Given the description of an element on the screen output the (x, y) to click on. 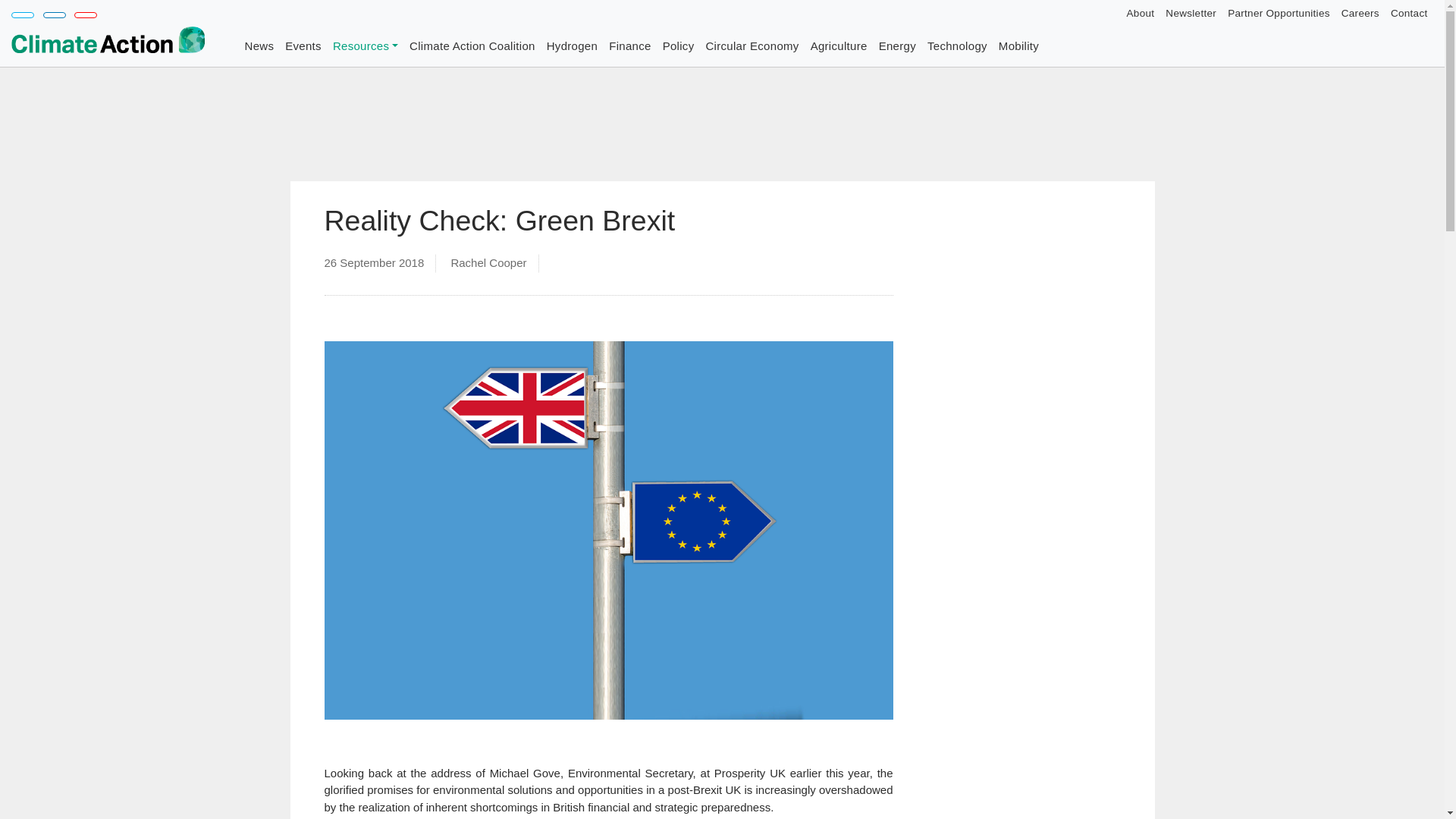
Events (303, 46)
Agriculture (838, 46)
Technology (956, 46)
Hydrogen (571, 46)
Newsletter (1191, 13)
Energy (896, 46)
Resources (364, 46)
Policy (678, 46)
Finance (630, 46)
Circular Economy (752, 46)
